Given the description of an element on the screen output the (x, y) to click on. 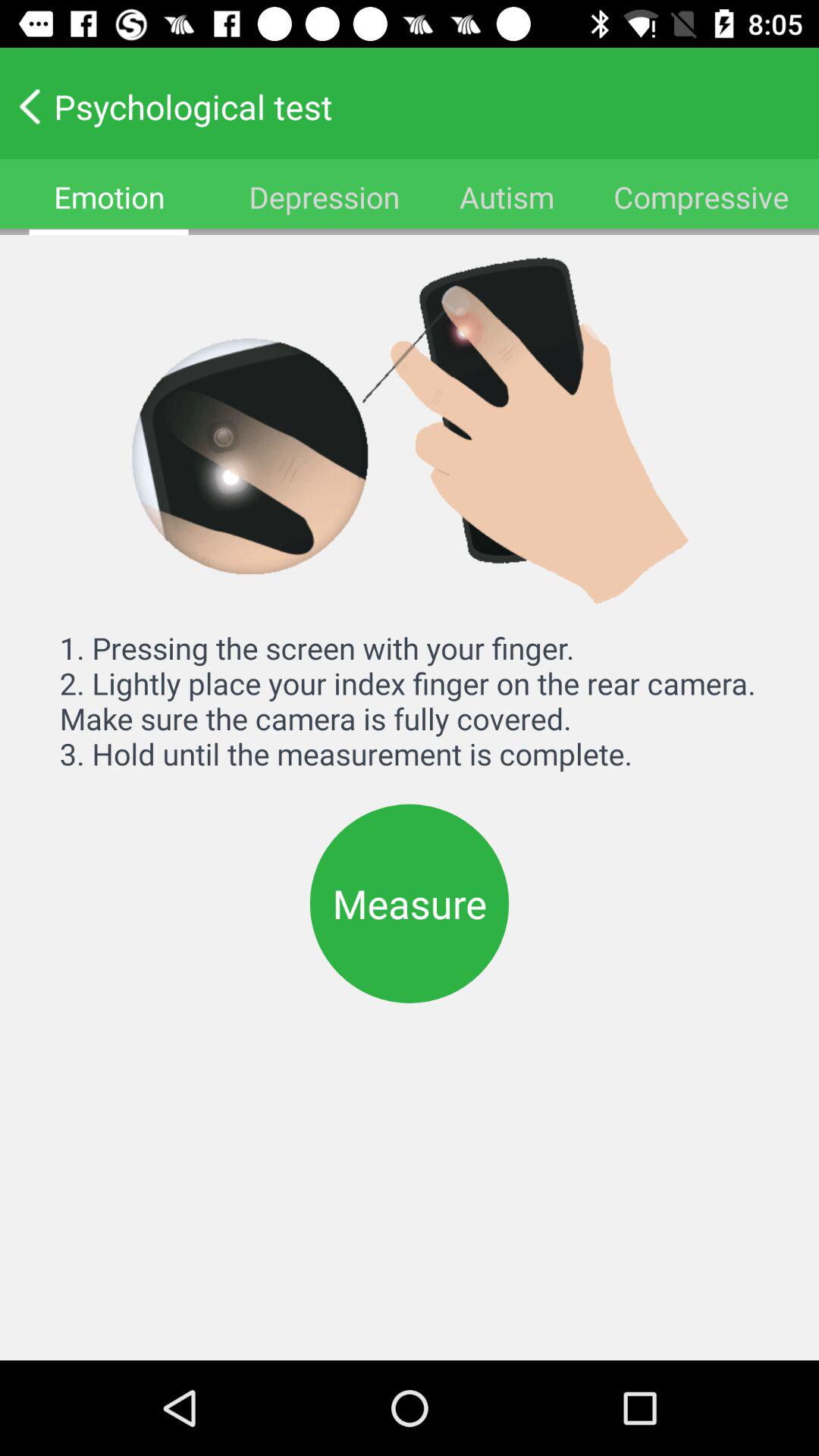
select icon below psychological test icon (701, 196)
